Given the description of an element on the screen output the (x, y) to click on. 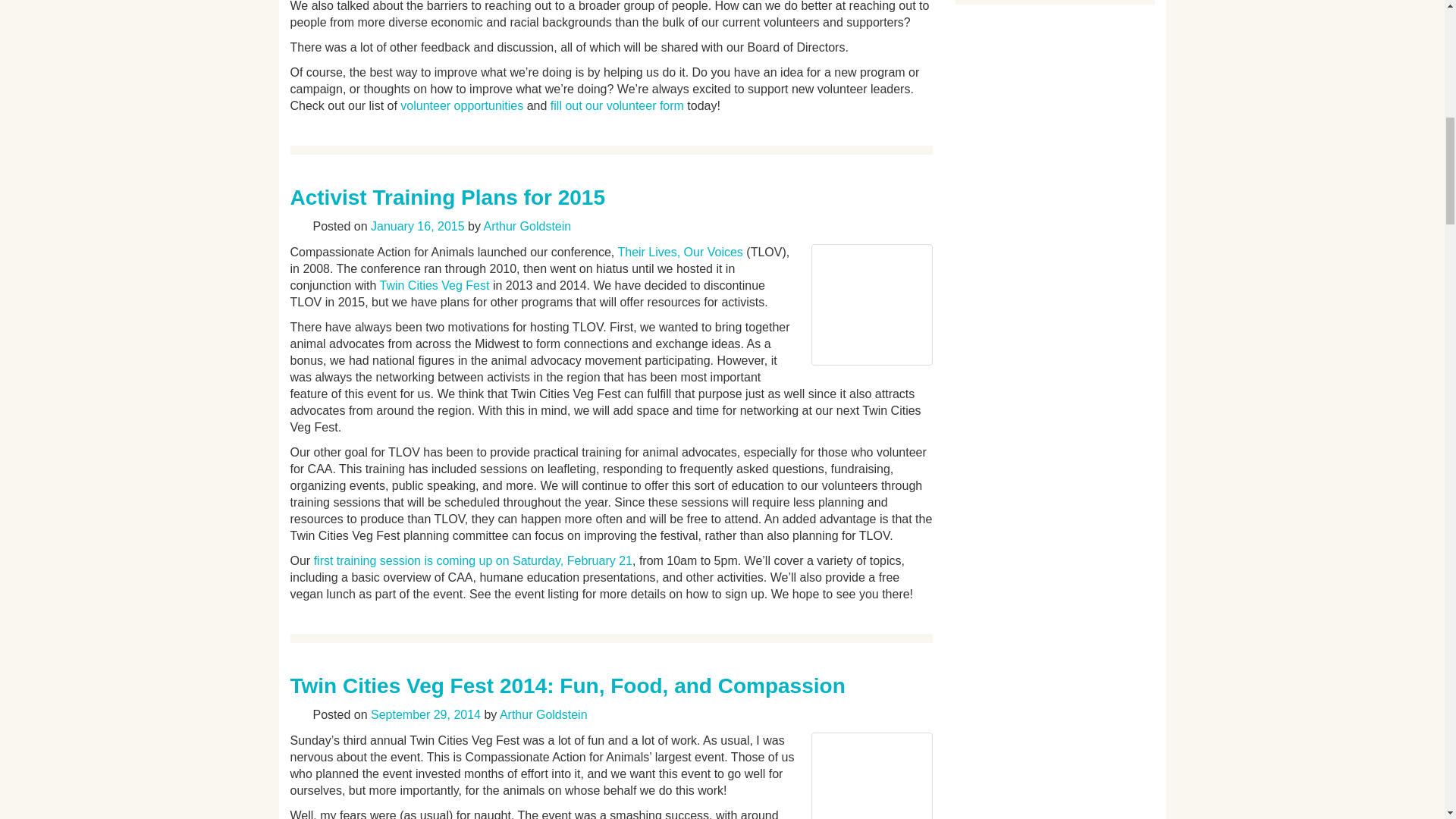
11:50 am (417, 226)
Arthur Goldstein (527, 226)
Permalink to Activist Training Plans for 2015 (446, 197)
Volunteer with CAA (461, 105)
first training session is coming up on Saturday, February 21 (472, 560)
Arthur Goldstein (543, 714)
September 29, 2014 (425, 714)
Their Lives, Our Voices (679, 251)
Twin Cities Veg Fest 2014: Fun, Food, and Compassion (566, 685)
Twin Cities Veg Fest (433, 285)
Activist Training Plans for 2015 (446, 197)
volunteer opportunities (461, 105)
fill out our volunteer form (617, 105)
January 16, 2015 (417, 226)
